Given the description of an element on the screen output the (x, y) to click on. 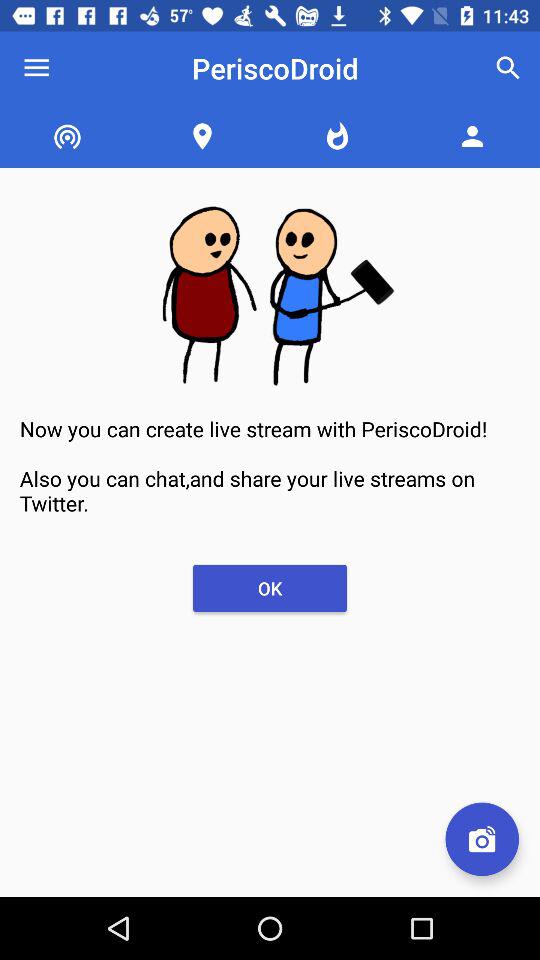
select the ok (269, 587)
